Given the description of an element on the screen output the (x, y) to click on. 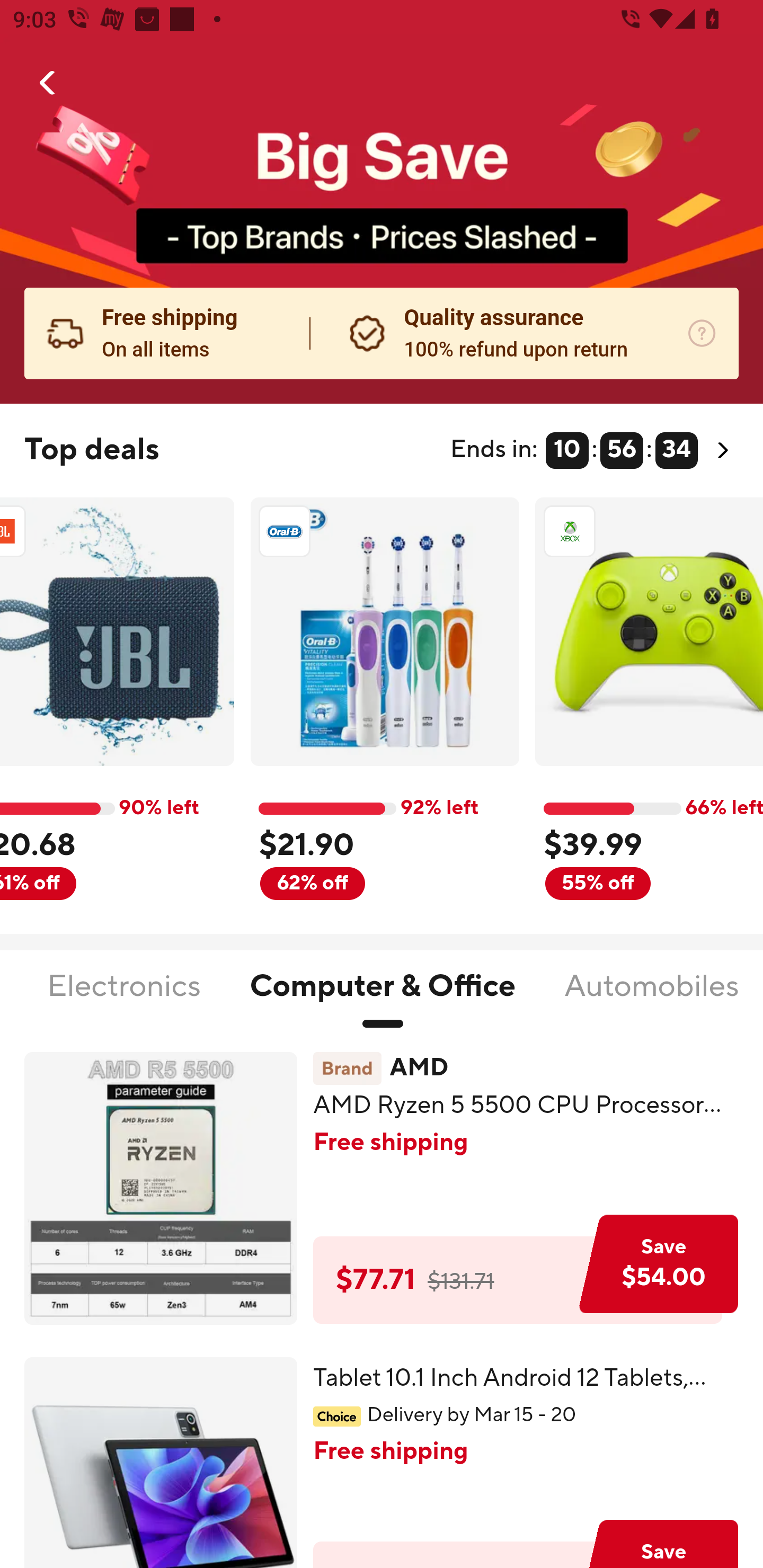
 (48, 82)
Electronics (123, 996)
Computer & Office (382, 996)
Automobiles (651, 996)
